Given the description of an element on the screen output the (x, y) to click on. 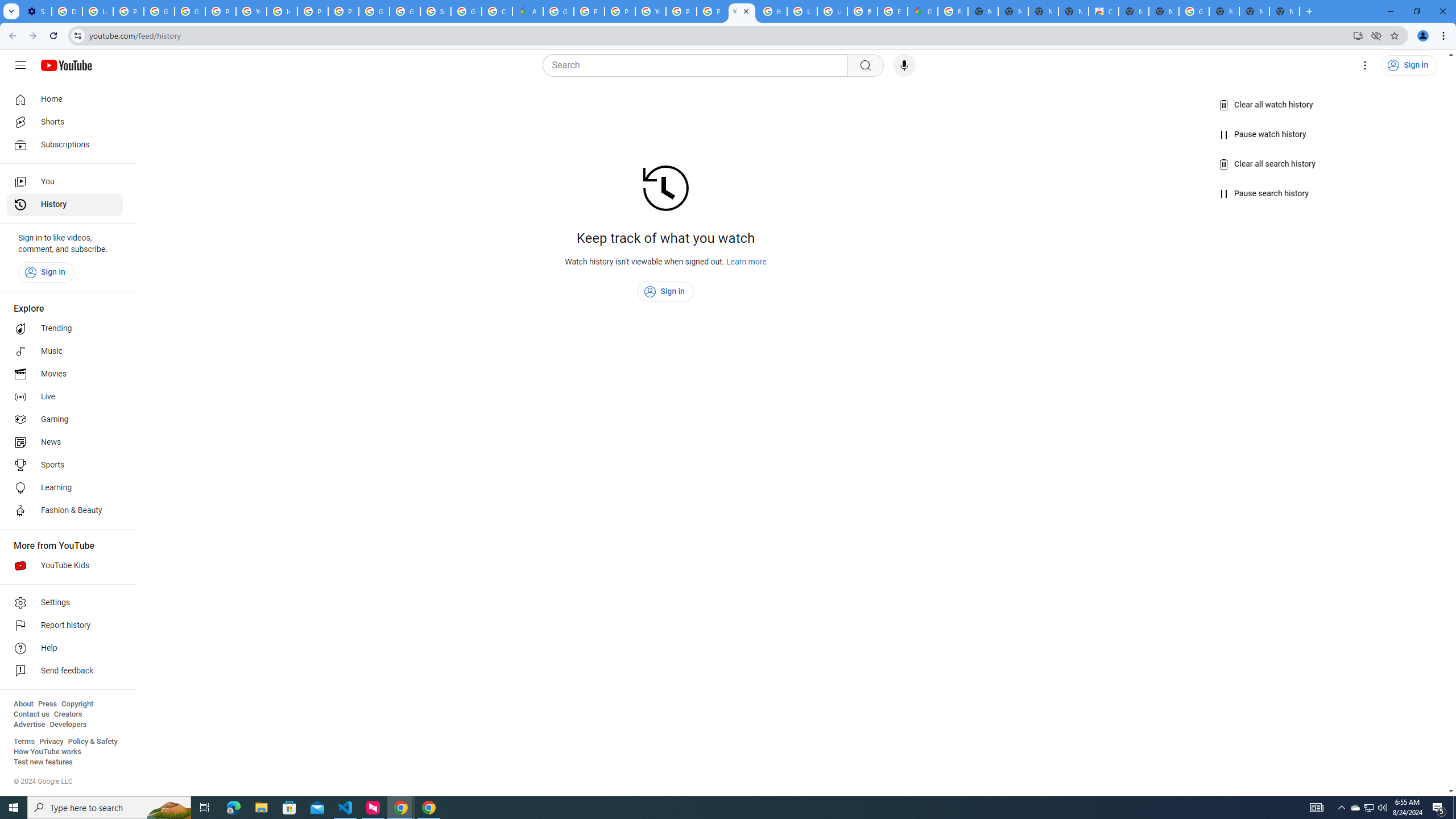
Clear all search history (1267, 163)
Fashion & Beauty (64, 510)
YouTube (650, 11)
Pause watch history (1263, 134)
YouTube (251, 11)
Settings - On startup (36, 11)
Press (46, 703)
Sports (64, 464)
Shorts (64, 121)
